Given the description of an element on the screen output the (x, y) to click on. 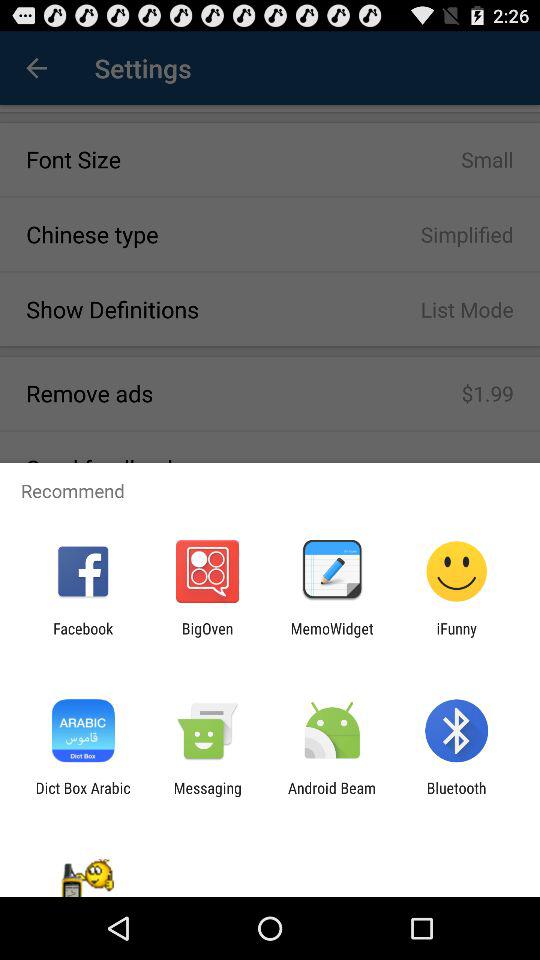
choose the app next to messaging (332, 796)
